Given the description of an element on the screen output the (x, y) to click on. 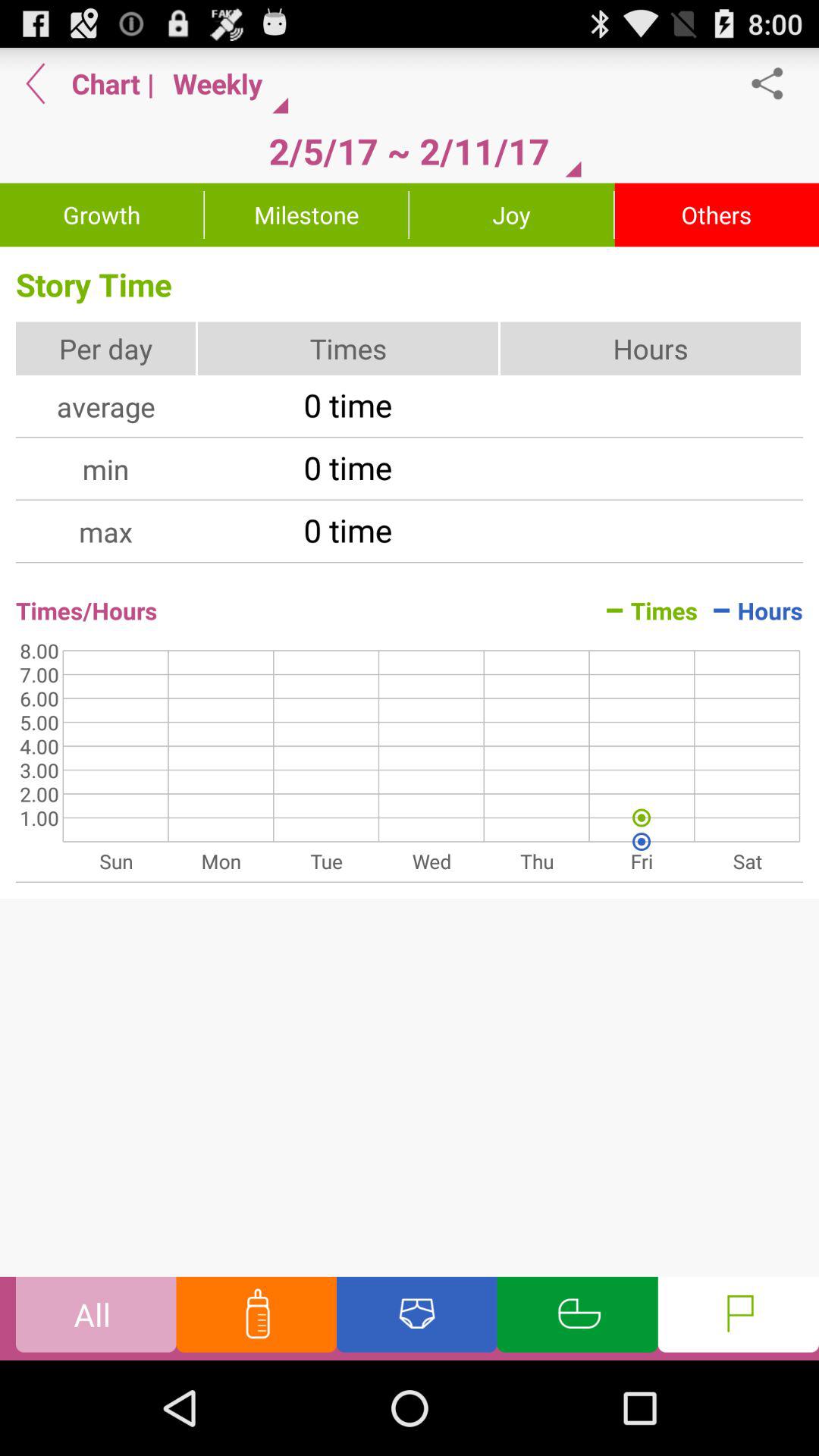
lf (738, 1318)
